Given the description of an element on the screen output the (x, y) to click on. 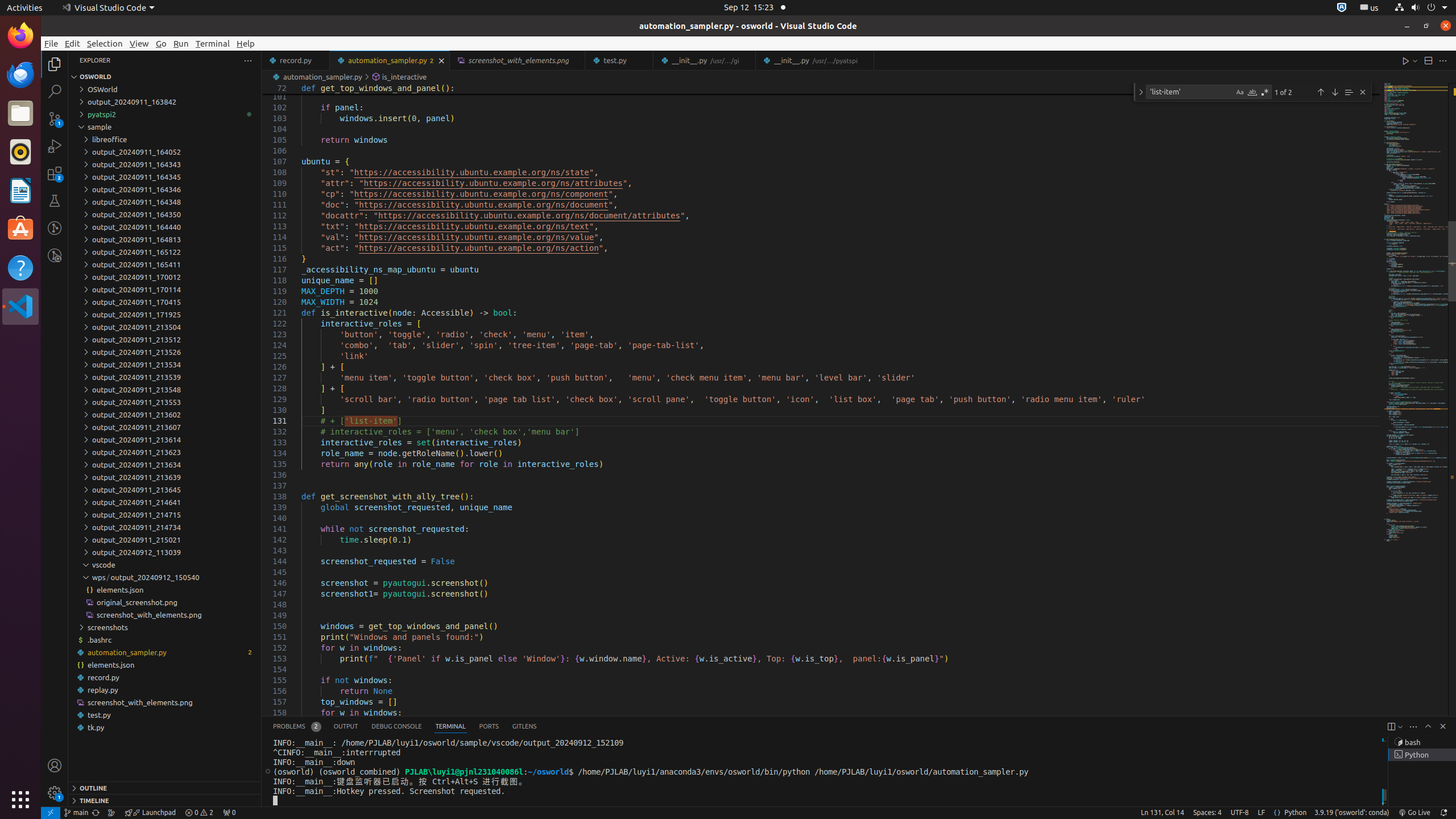
def get_top_windows_and_panel(): Element type: list-item (840, 88)
pyatspi2 Element type: tree-item (164, 114)
output_20240911_213639 Element type: tree-item (164, 476)
sample Element type: tree-item (164, 126)
Problems (Ctrl+Shift+M) - Total 2 Problems Element type: page-tab (296, 726)
